Given the description of an element on the screen output the (x, y) to click on. 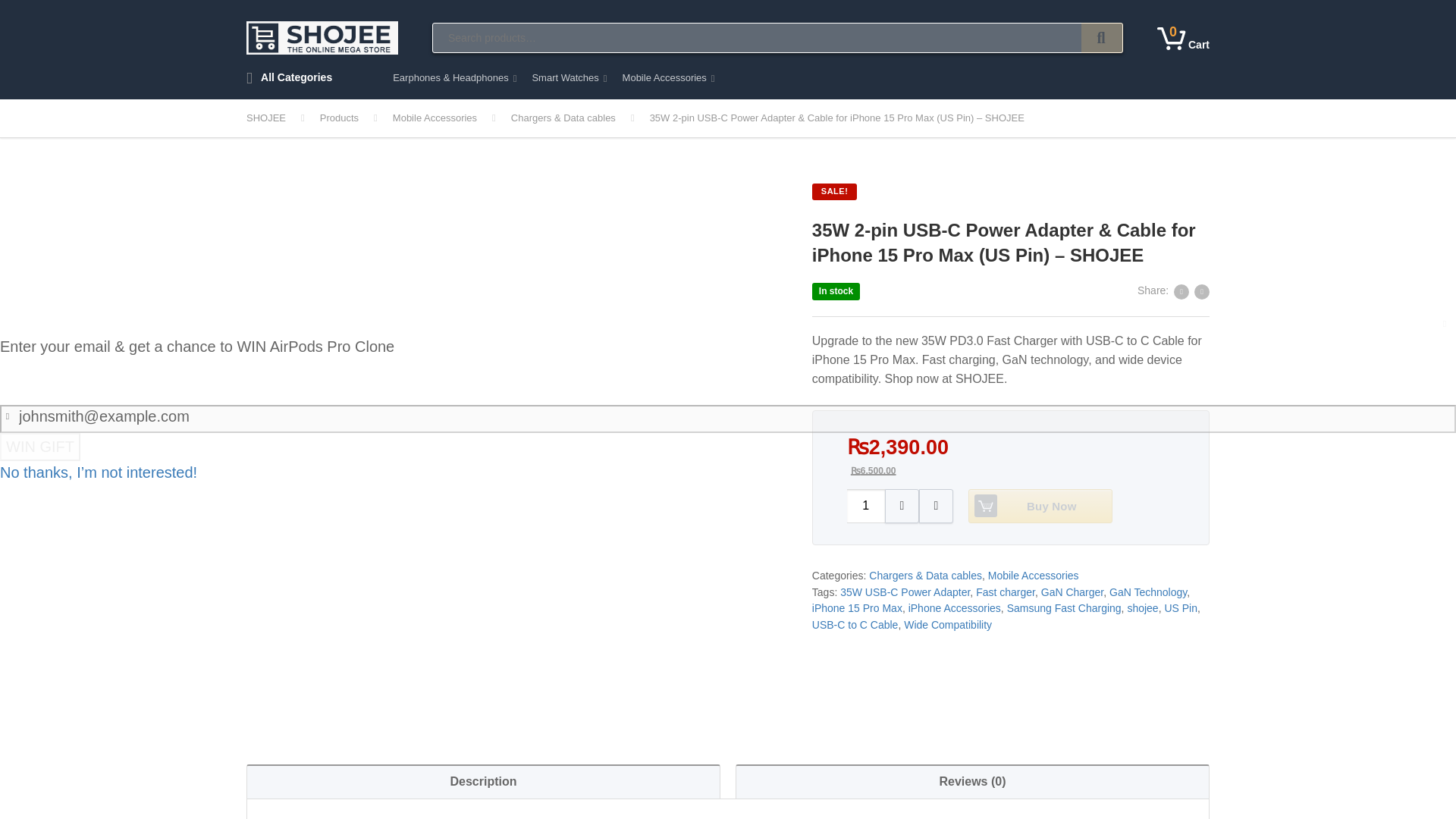
Smart Watches (1183, 37)
1 (569, 81)
Mobile Accessories (866, 505)
Fast charger (452, 118)
GaN Charger (1005, 592)
Search (1072, 592)
Go to Products. (1101, 37)
Products (356, 118)
iPhone 15 Pro Max (356, 118)
